Given the description of an element on the screen output the (x, y) to click on. 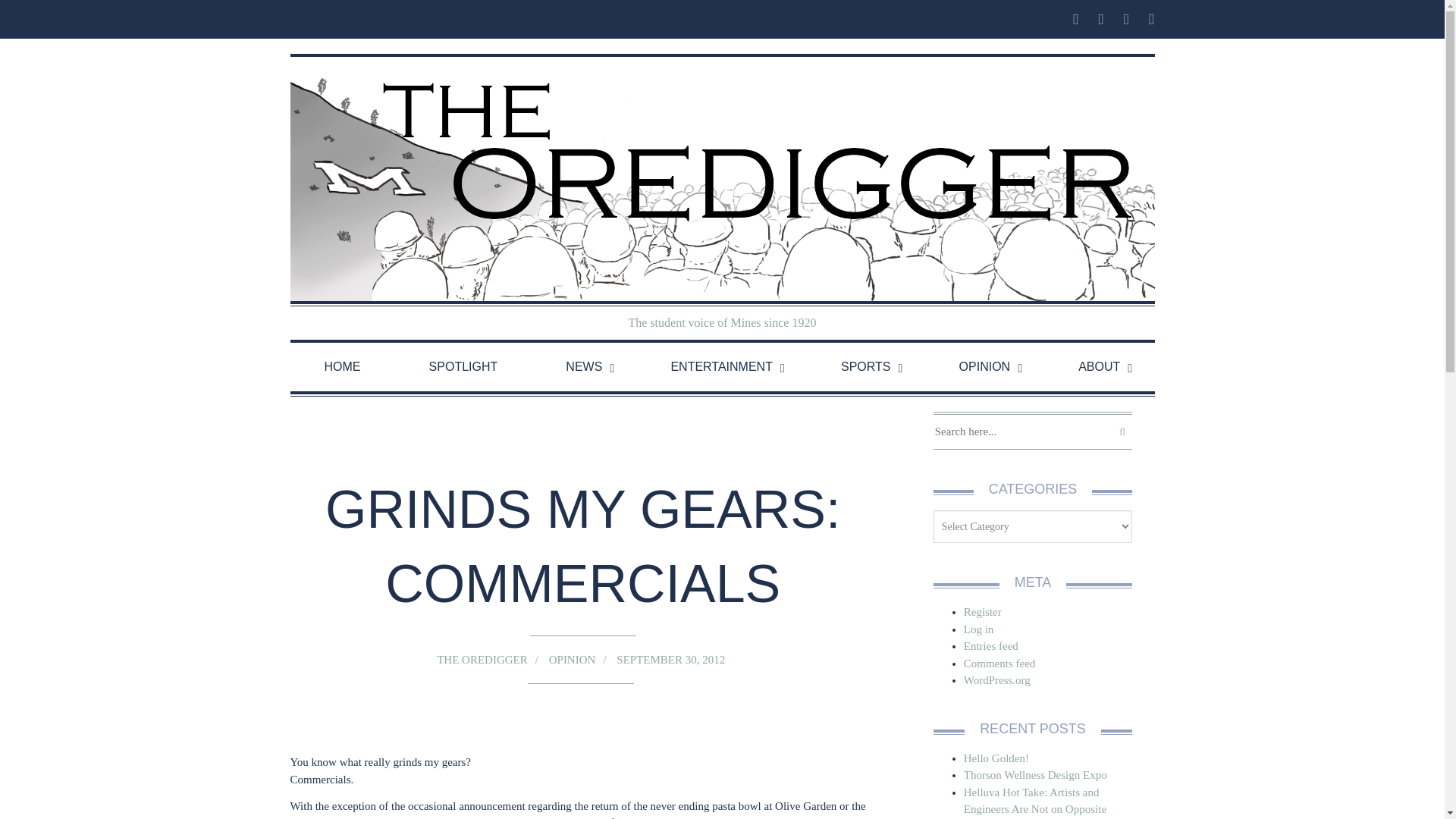
NEWS (583, 367)
Posts by The Oredigger (481, 659)
ABOUT (1098, 367)
OPINION (984, 367)
SPOTLIGHT (463, 367)
HOME (341, 367)
SPORTS (865, 367)
Go back to home (721, 179)
ENTERTAINMENT (721, 367)
